Given the description of an element on the screen output the (x, y) to click on. 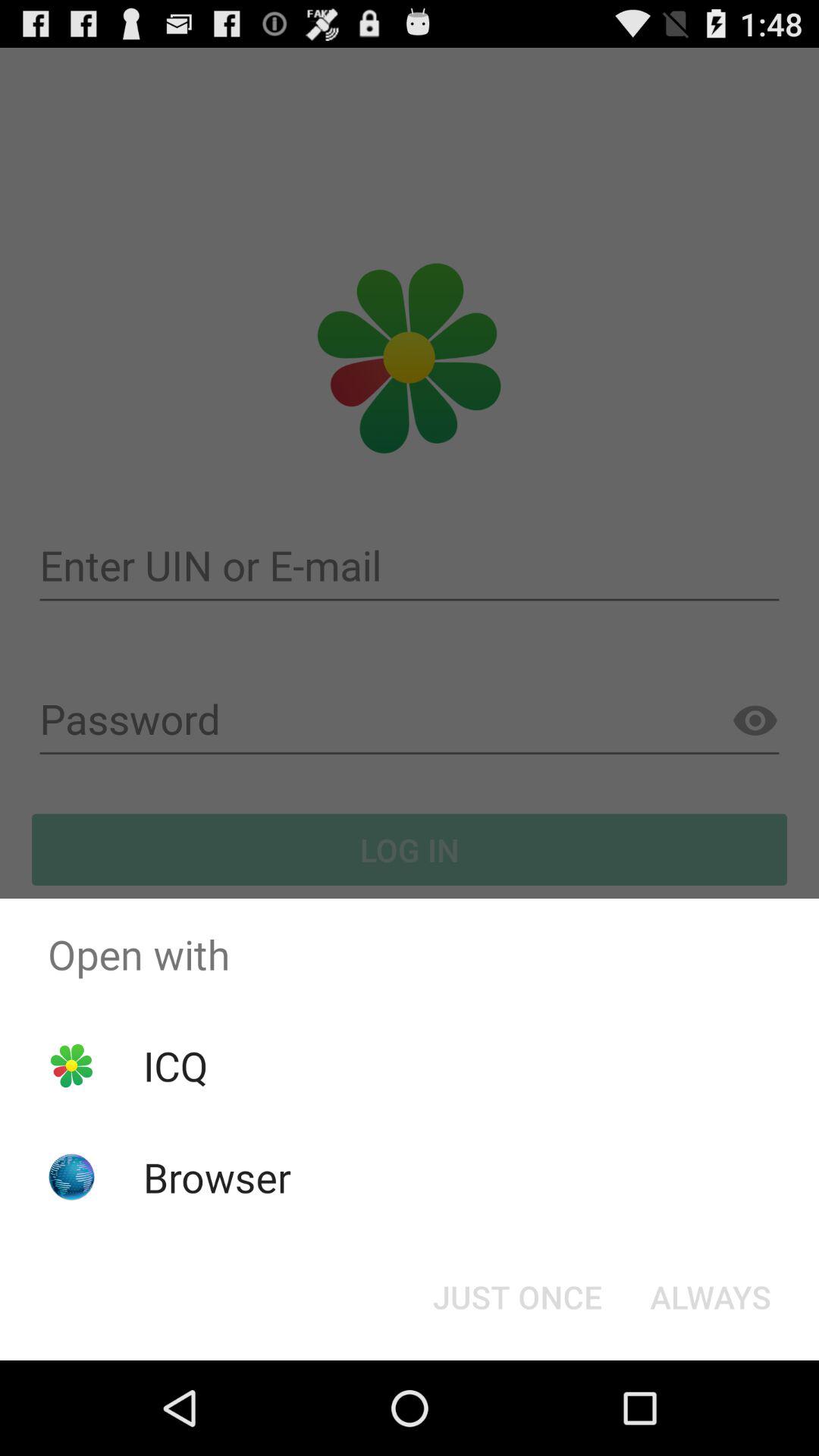
click icon next to just once icon (710, 1296)
